Given the description of an element on the screen output the (x, y) to click on. 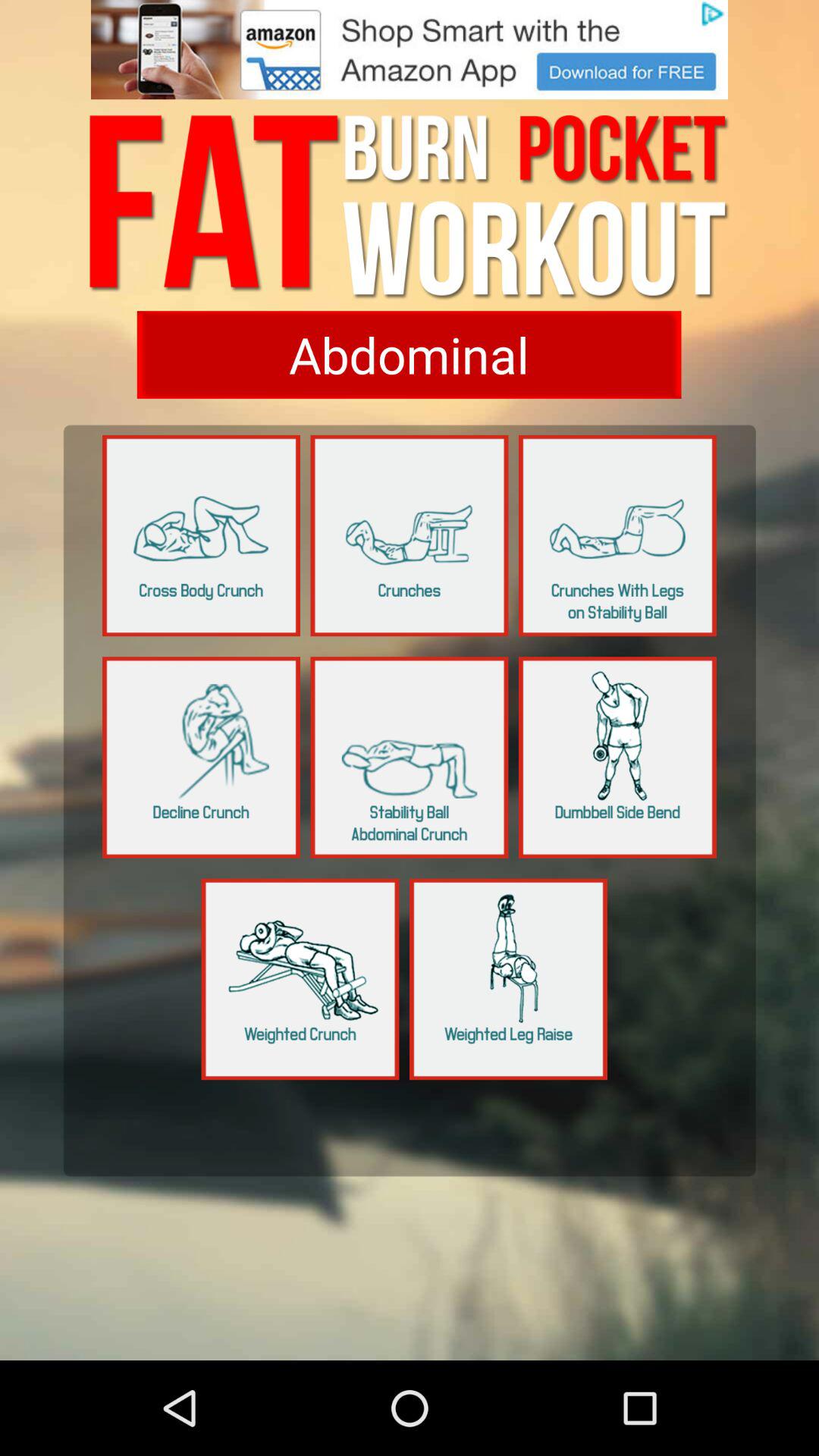
it show someworkout (201, 757)
